Given the description of an element on the screen output the (x, y) to click on. 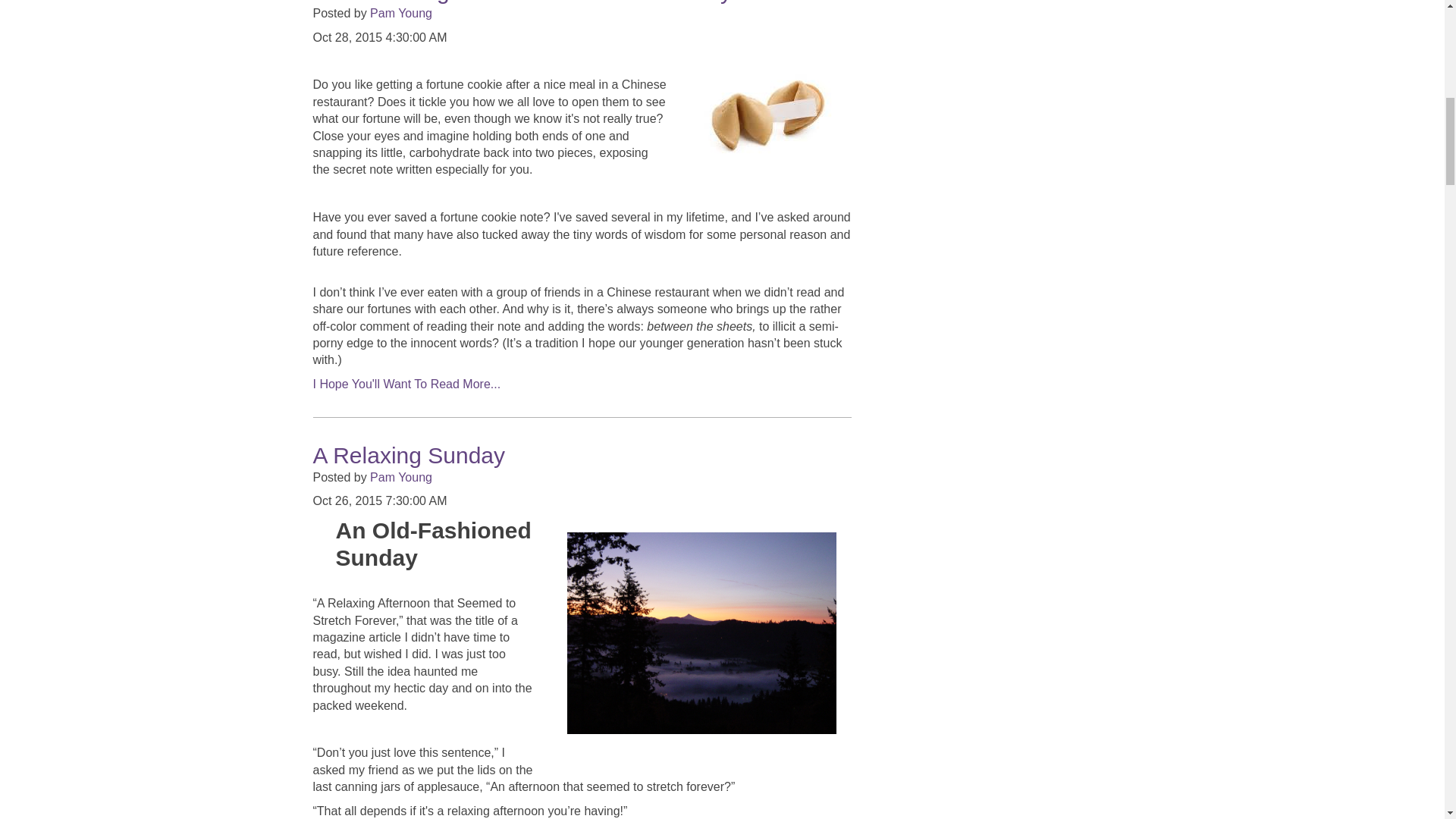
I Hope You'll Want To Read More... (406, 383)
Pam Young (400, 12)
Pam Young (400, 477)
A Relaxing Sunday (409, 455)
